Given the description of an element on the screen output the (x, y) to click on. 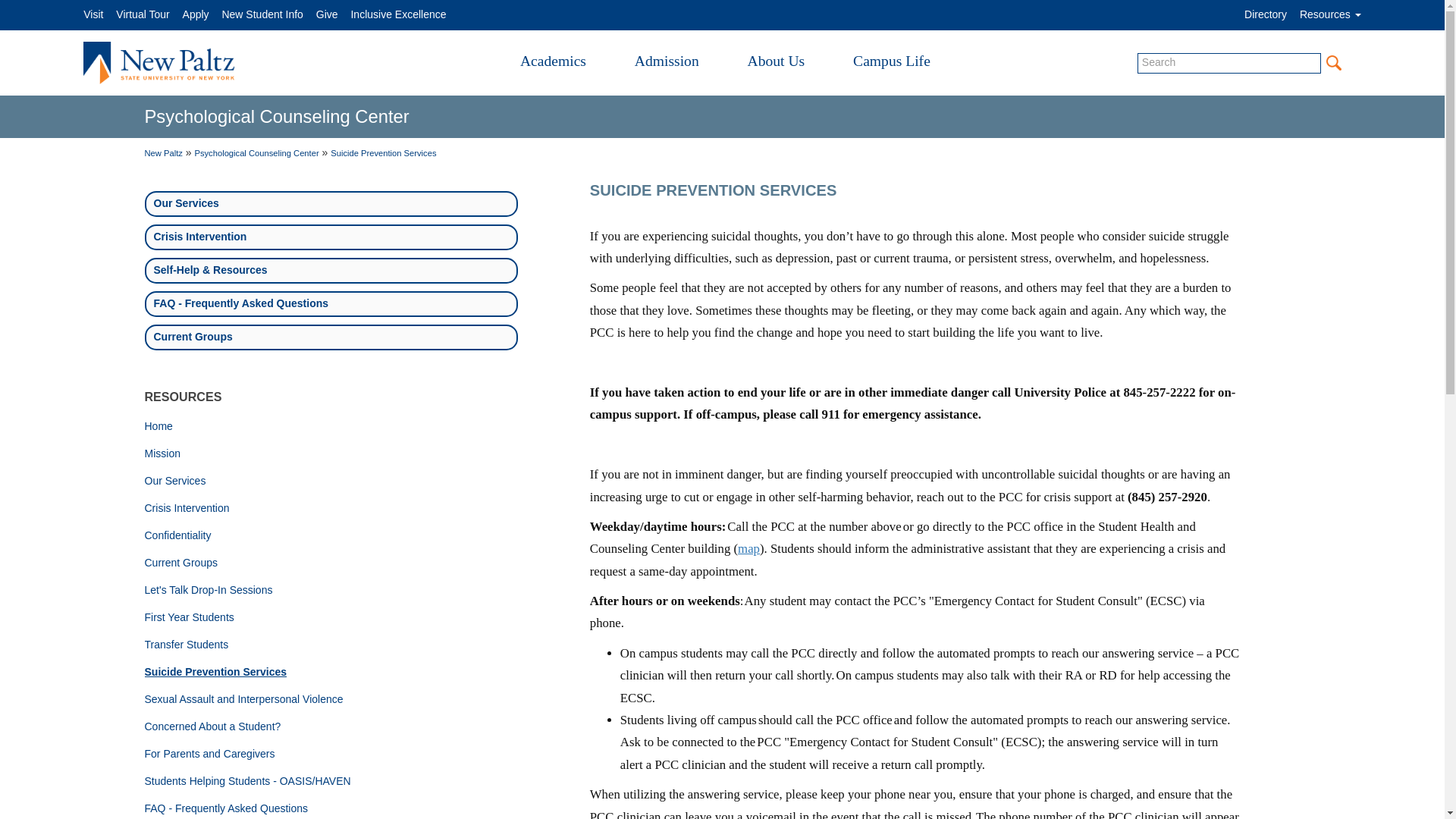
About Us (776, 60)
Visit (92, 14)
Give (326, 14)
Apply (196, 14)
Resources (1330, 14)
Admission (666, 60)
Academics (552, 60)
Directory (1265, 14)
Virtual Tour (142, 14)
Inclusive Excellence (397, 14)
